Given the description of an element on the screen output the (x, y) to click on. 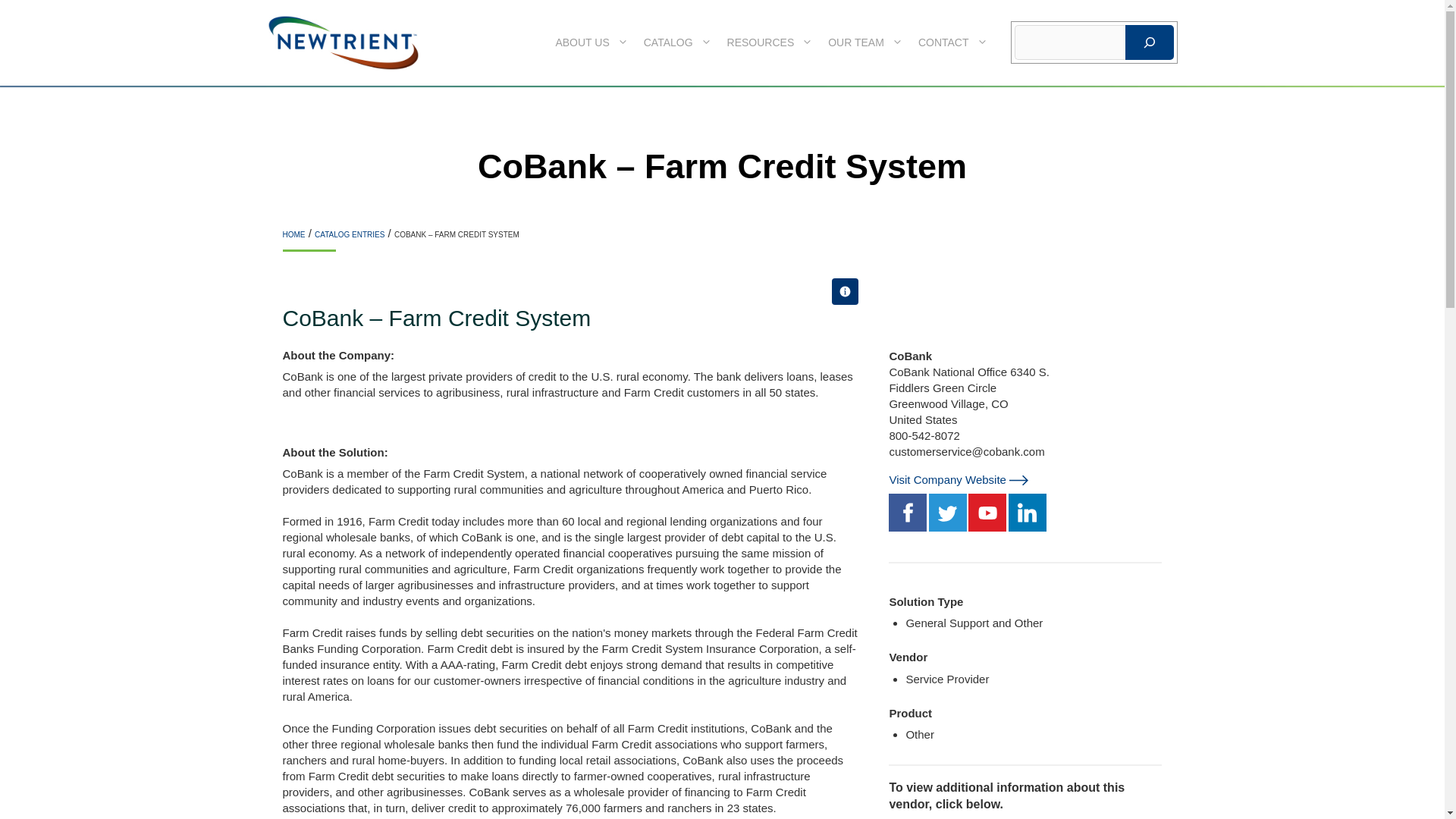
CONTACT (953, 42)
RESOURCES (770, 42)
ABOUT US (590, 42)
HOME (293, 234)
CATALOG ENTRIES (349, 234)
OUR TEAM (866, 42)
CATALOG (677, 42)
Visit Company Website (947, 479)
